Given the description of an element on the screen output the (x, y) to click on. 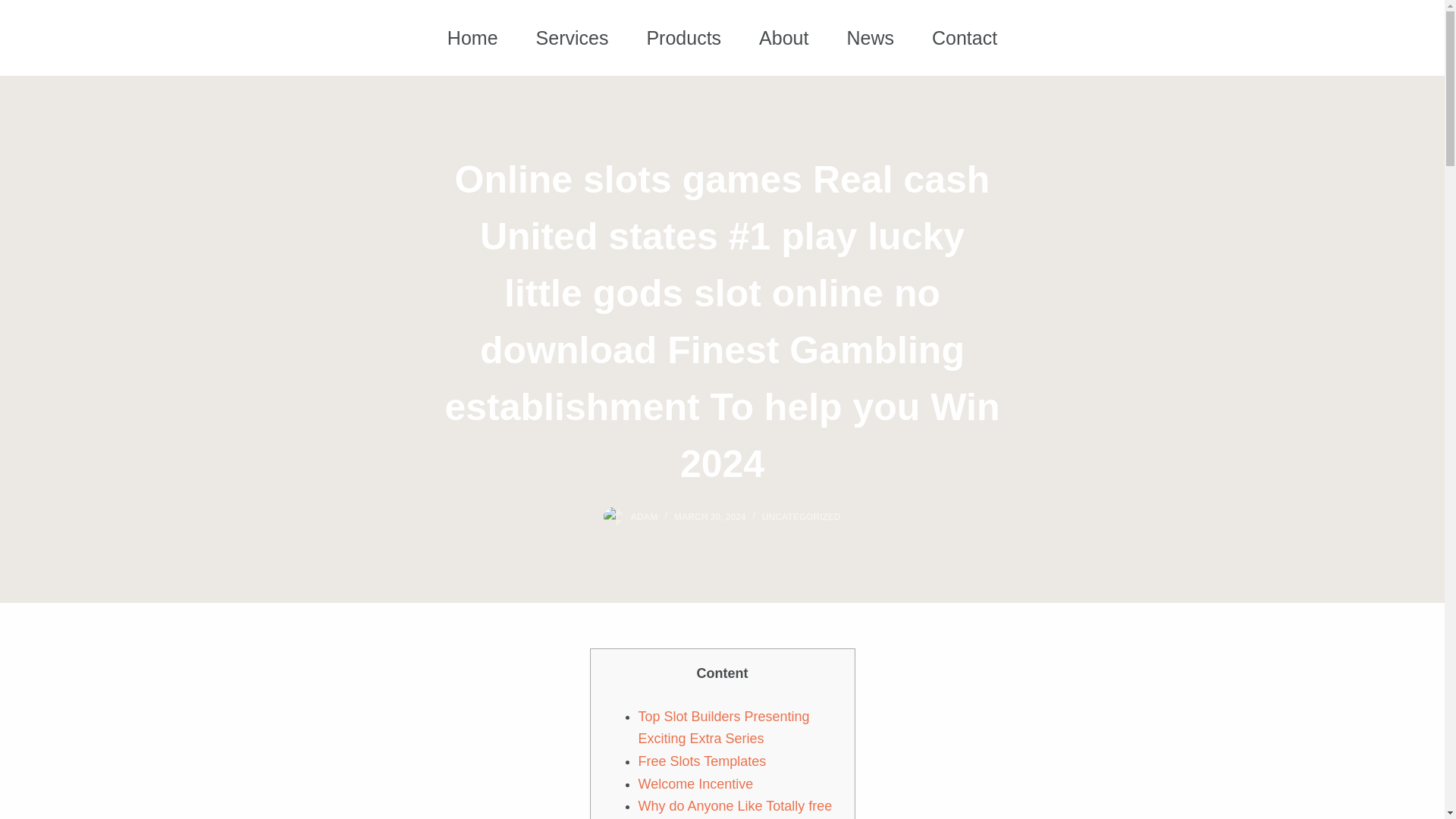
About (783, 37)
Skip to content (15, 7)
Welcome Incentive (696, 783)
Home (472, 37)
Posts by Adam (644, 516)
Top Slot Builders Presenting Exciting Extra Series (724, 727)
Contact (964, 37)
News (869, 37)
UNCATEGORIZED (801, 516)
ADAM (644, 516)
Why do Anyone Like Totally free Gamble Harbors? (735, 808)
Products (683, 37)
Free Slots Templates (703, 761)
Services (571, 37)
